Given the description of an element on the screen output the (x, y) to click on. 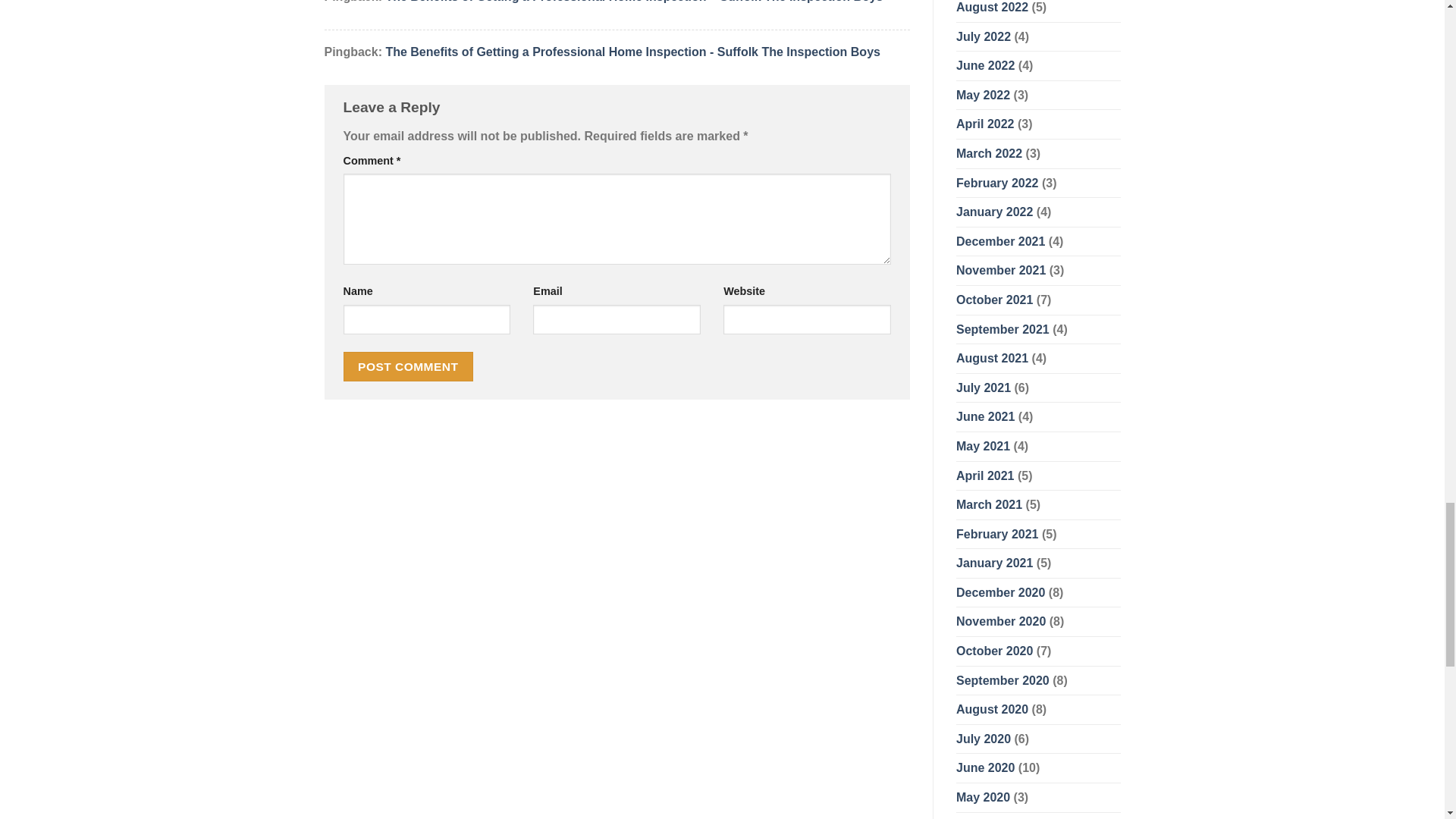
Post Comment (407, 366)
